Given the description of an element on the screen output the (x, y) to click on. 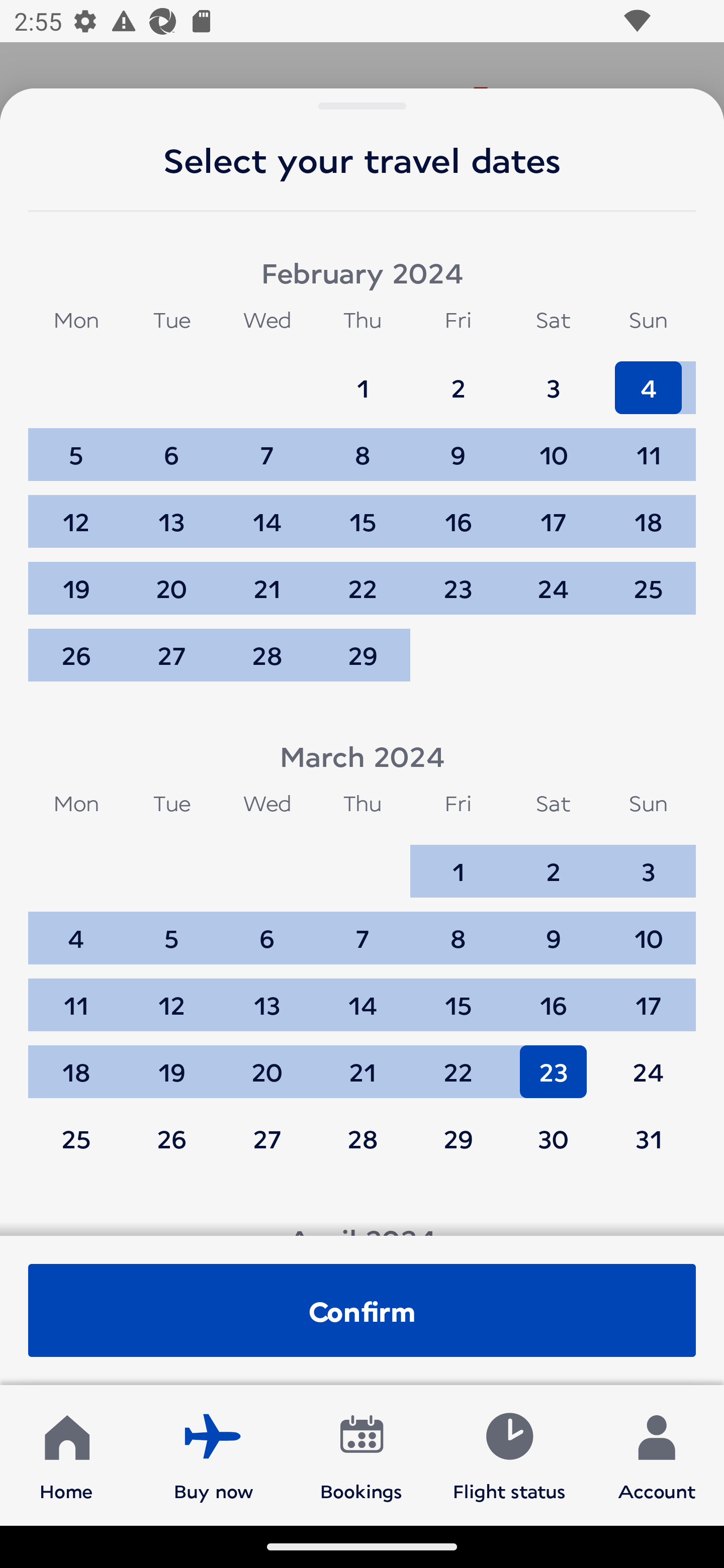
1 (362, 379)
2 (458, 379)
3 (553, 379)
4 (647, 379)
5 (75, 445)
6 (171, 445)
7 (266, 445)
8 (362, 445)
9 (458, 445)
10 (553, 445)
11 (647, 445)
12 (75, 512)
13 (171, 512)
14 (266, 512)
15 (362, 512)
16 (458, 512)
17 (553, 512)
18 (647, 512)
19 (75, 579)
20 (171, 579)
21 (266, 579)
22 (362, 579)
23 (458, 579)
24 (553, 579)
25 (647, 579)
26 (75, 655)
27 (171, 655)
28 (266, 655)
29 (362, 655)
1 (458, 862)
2 (553, 862)
3 (647, 862)
4 (75, 928)
5 (171, 928)
6 (266, 928)
7 (362, 928)
8 (458, 928)
9 (553, 928)
10 (647, 928)
11 (75, 996)
12 (171, 996)
13 (266, 996)
14 (362, 996)
15 (458, 996)
16 (553, 996)
17 (647, 996)
18 (75, 1063)
19 (171, 1063)
20 (266, 1063)
21 (362, 1063)
22 (458, 1063)
23 (553, 1063)
24 (647, 1063)
25 (75, 1138)
26 (171, 1138)
27 (266, 1138)
28 (362, 1138)
29 (458, 1138)
30 (553, 1138)
31 (647, 1138)
Confirm (361, 1309)
Home (66, 1454)
Bookings (361, 1454)
Flight status (509, 1454)
Account (657, 1454)
